Given the description of an element on the screen output the (x, y) to click on. 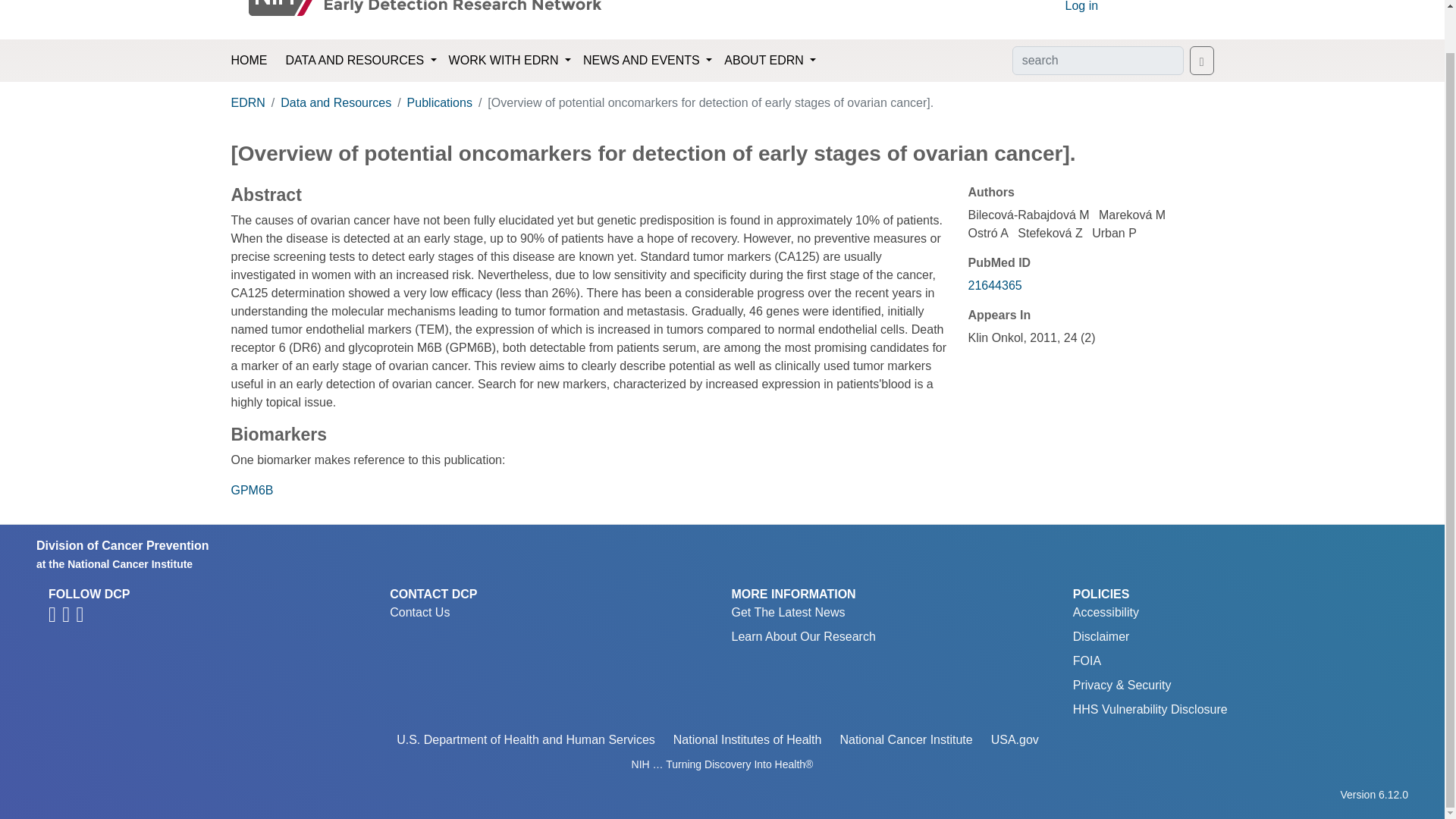
Log in (1080, 6)
EDRN (247, 102)
DATA AND RESOURCES (360, 60)
HOME (248, 60)
WORK WITH EDRN (509, 60)
NEWS AND EVENTS (646, 60)
ABOUT EDRN (769, 60)
